Given the description of an element on the screen output the (x, y) to click on. 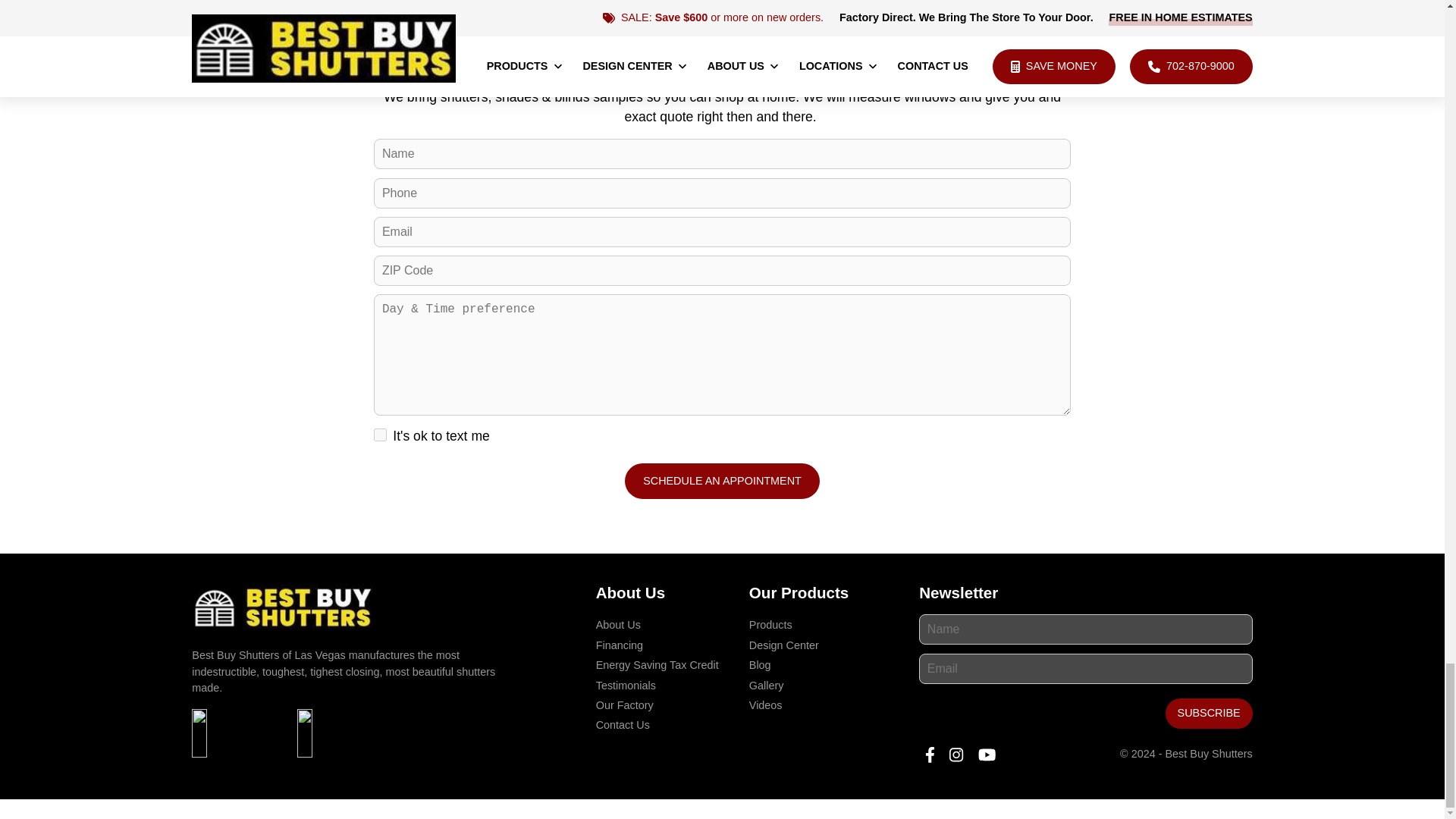
It's ok to text me (380, 434)
Follow us on Youtube (986, 755)
SUBSCRIBE (1209, 713)
Follow us on Instagram (956, 755)
SCHEDULE AN APPOINTMENT (721, 480)
